Given the description of an element on the screen output the (x, y) to click on. 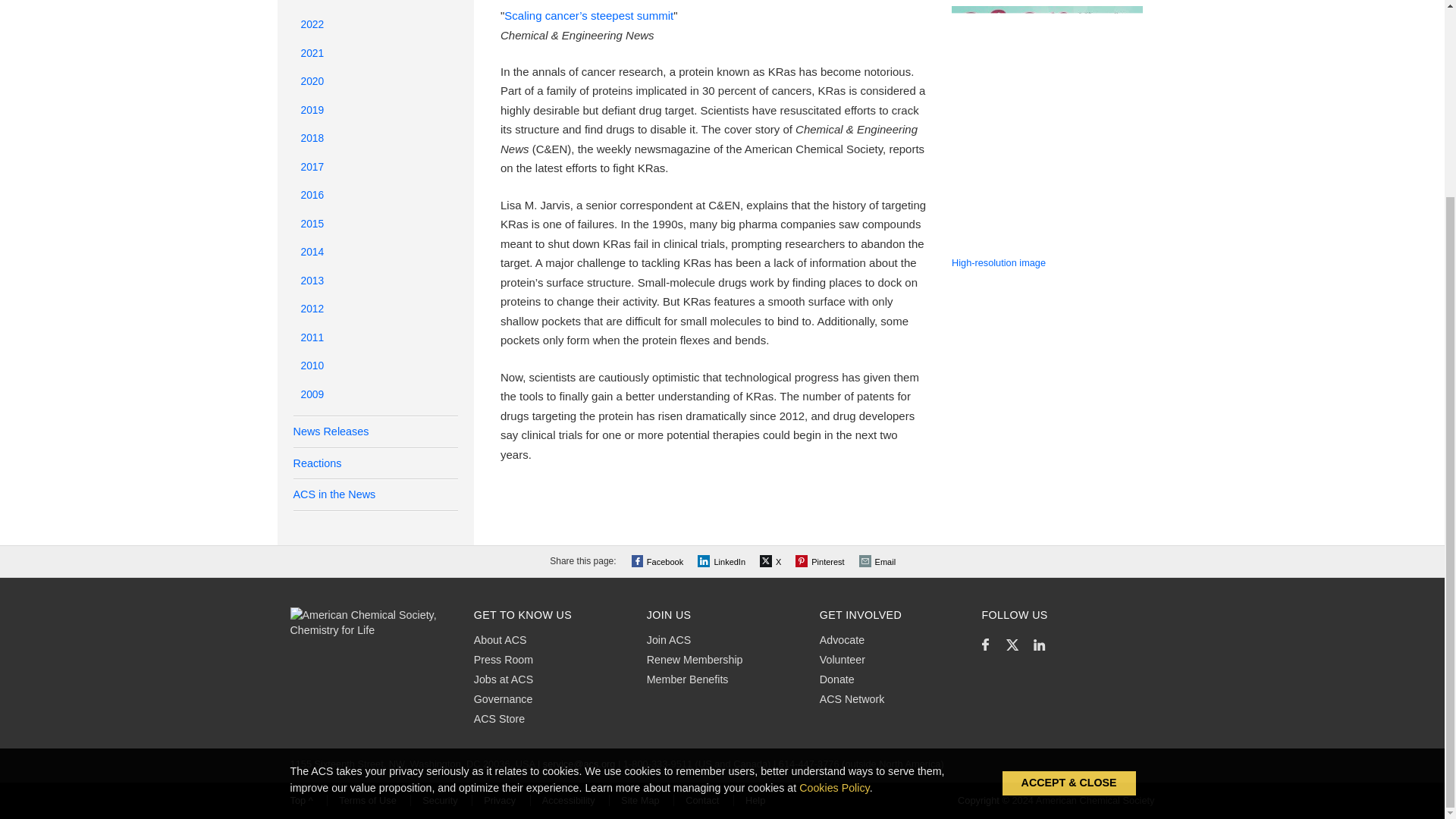
Facebook (659, 561)
LinkedIn (723, 561)
Tweet (772, 561)
Email (879, 561)
Pinterest (820, 561)
